Given the description of an element on the screen output the (x, y) to click on. 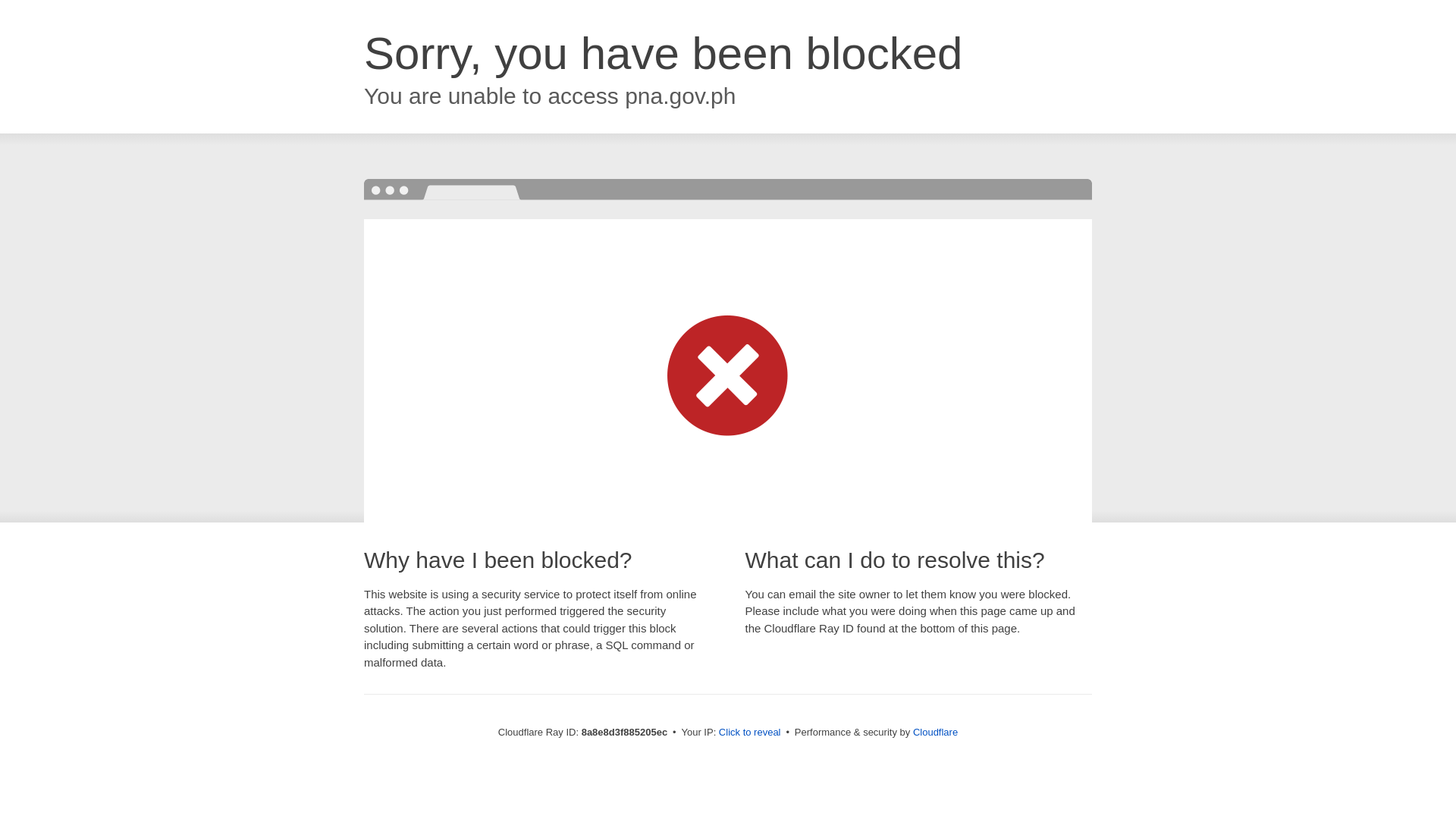
Click to reveal (749, 732)
Cloudflare (935, 731)
